Given the description of an element on the screen output the (x, y) to click on. 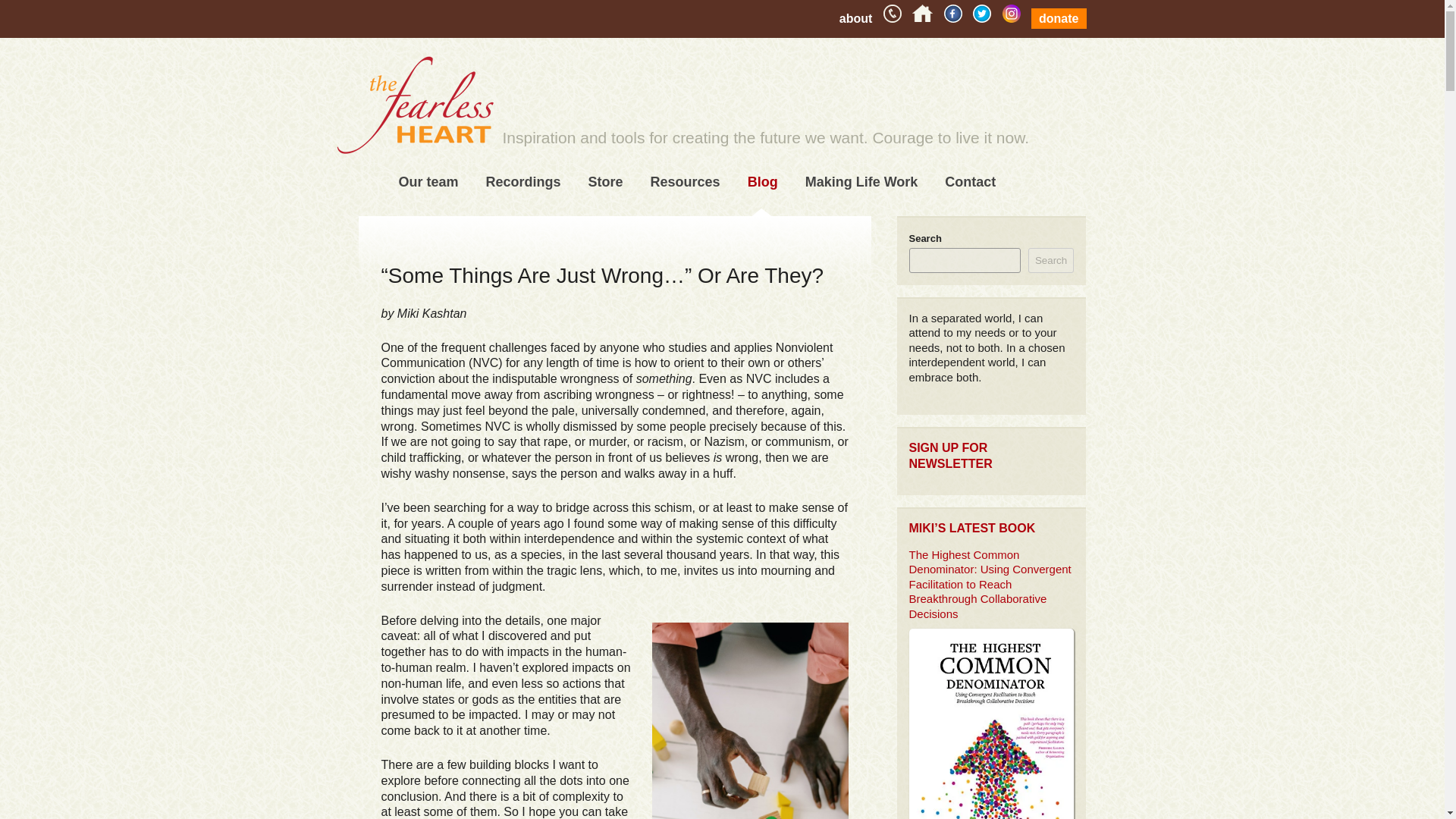
The Fearless Heart (414, 111)
The Highest Common Denominator (650, 227)
Our team (428, 182)
Store (606, 182)
Resources (685, 182)
about (856, 18)
Recordings (523, 182)
donate (1058, 18)
Audio recordings (547, 216)
Core Nonviolence Commitments (713, 227)
